Given the description of an element on the screen output the (x, y) to click on. 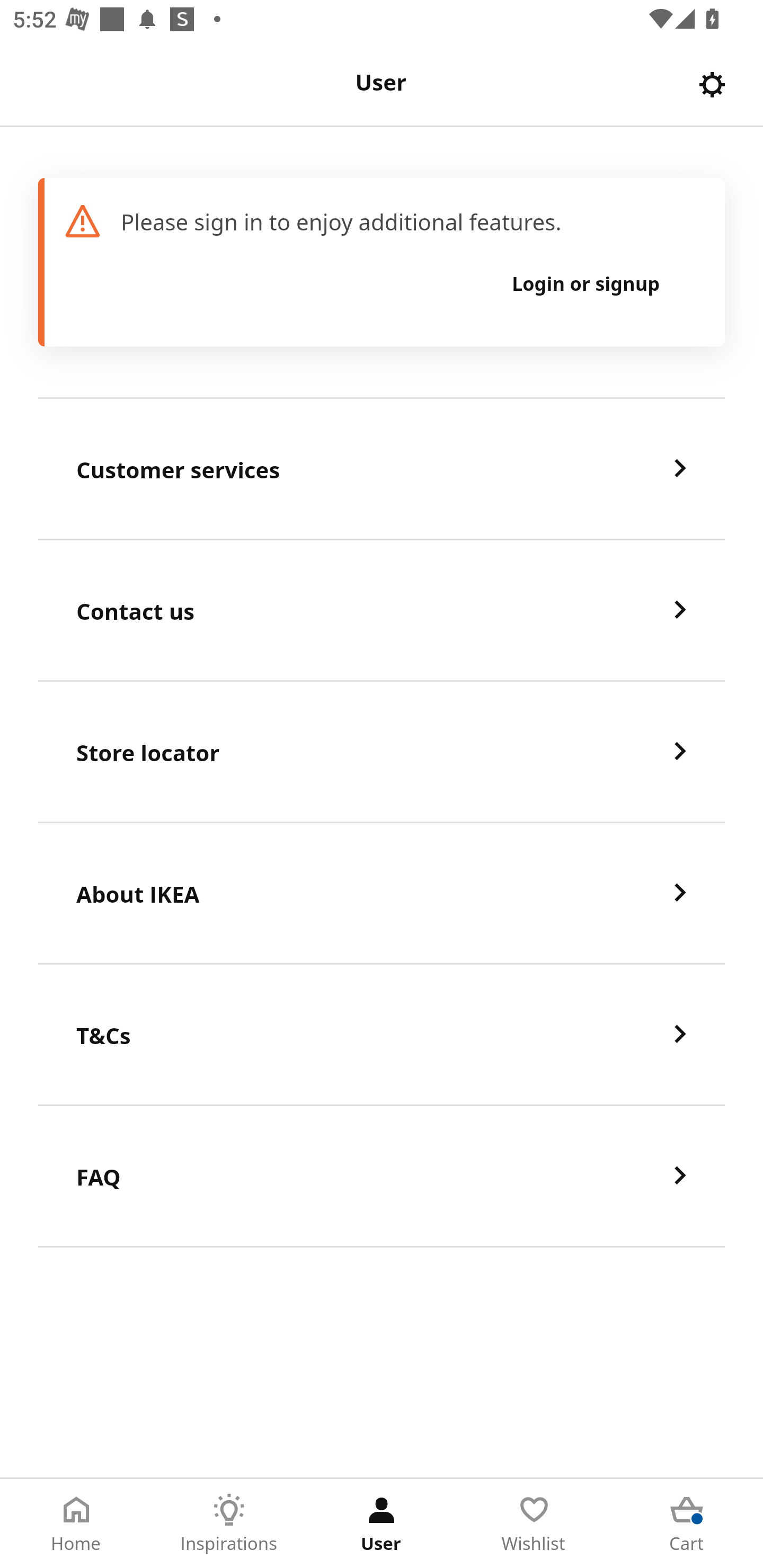
Login or signup (586, 282)
Customer services (381, 469)
Contact us (381, 611)
Store locator (381, 752)
About IKEA (381, 893)
T&Cs (381, 1034)
FAQ (381, 1176)
Home
Tab 1 of 5 (76, 1522)
Inspirations
Tab 2 of 5 (228, 1522)
User
Tab 3 of 5 (381, 1522)
Wishlist
Tab 4 of 5 (533, 1522)
Cart
Tab 5 of 5 (686, 1522)
